Given the description of an element on the screen output the (x, y) to click on. 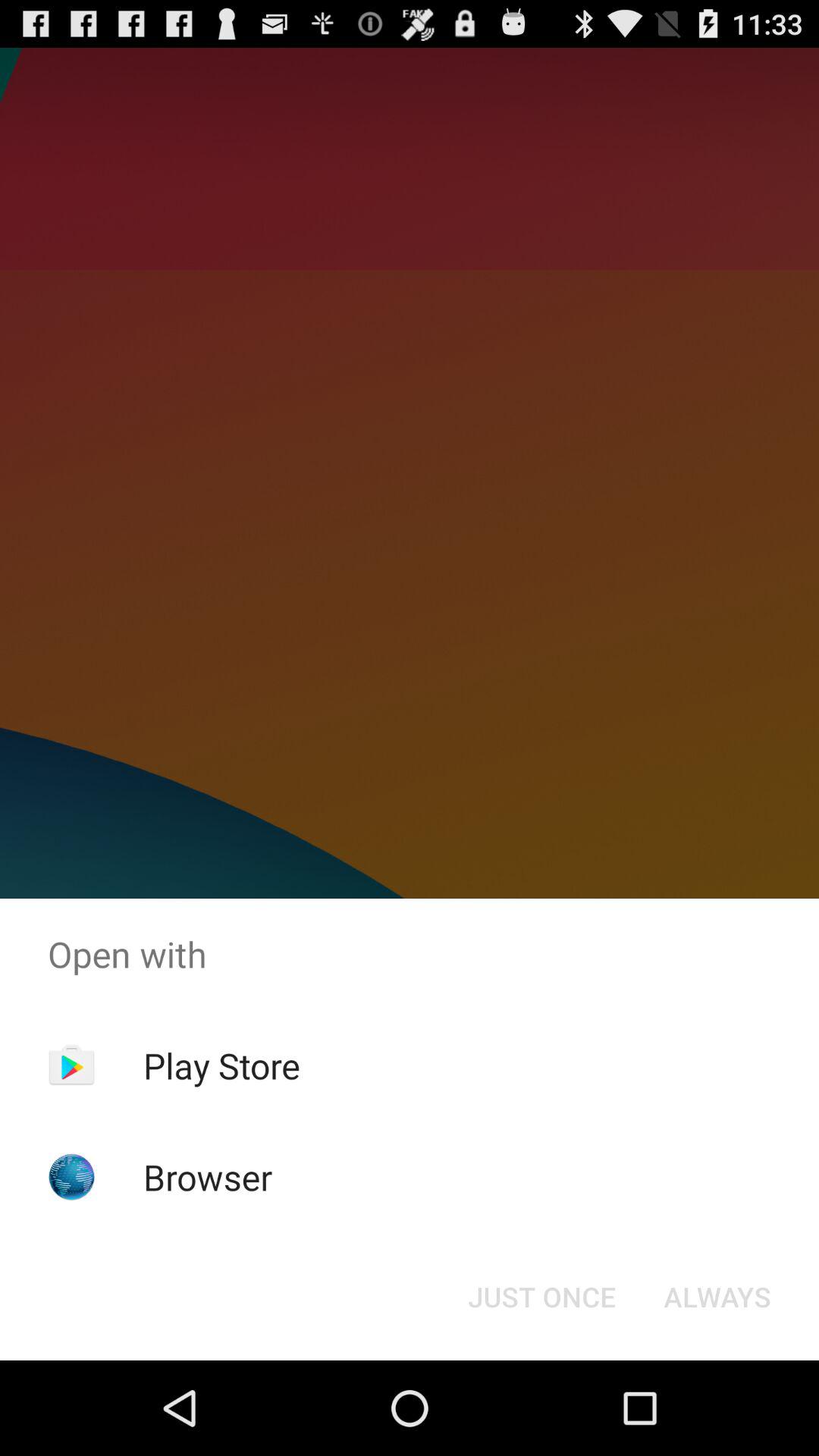
jump to just once (541, 1296)
